Given the description of an element on the screen output the (x, y) to click on. 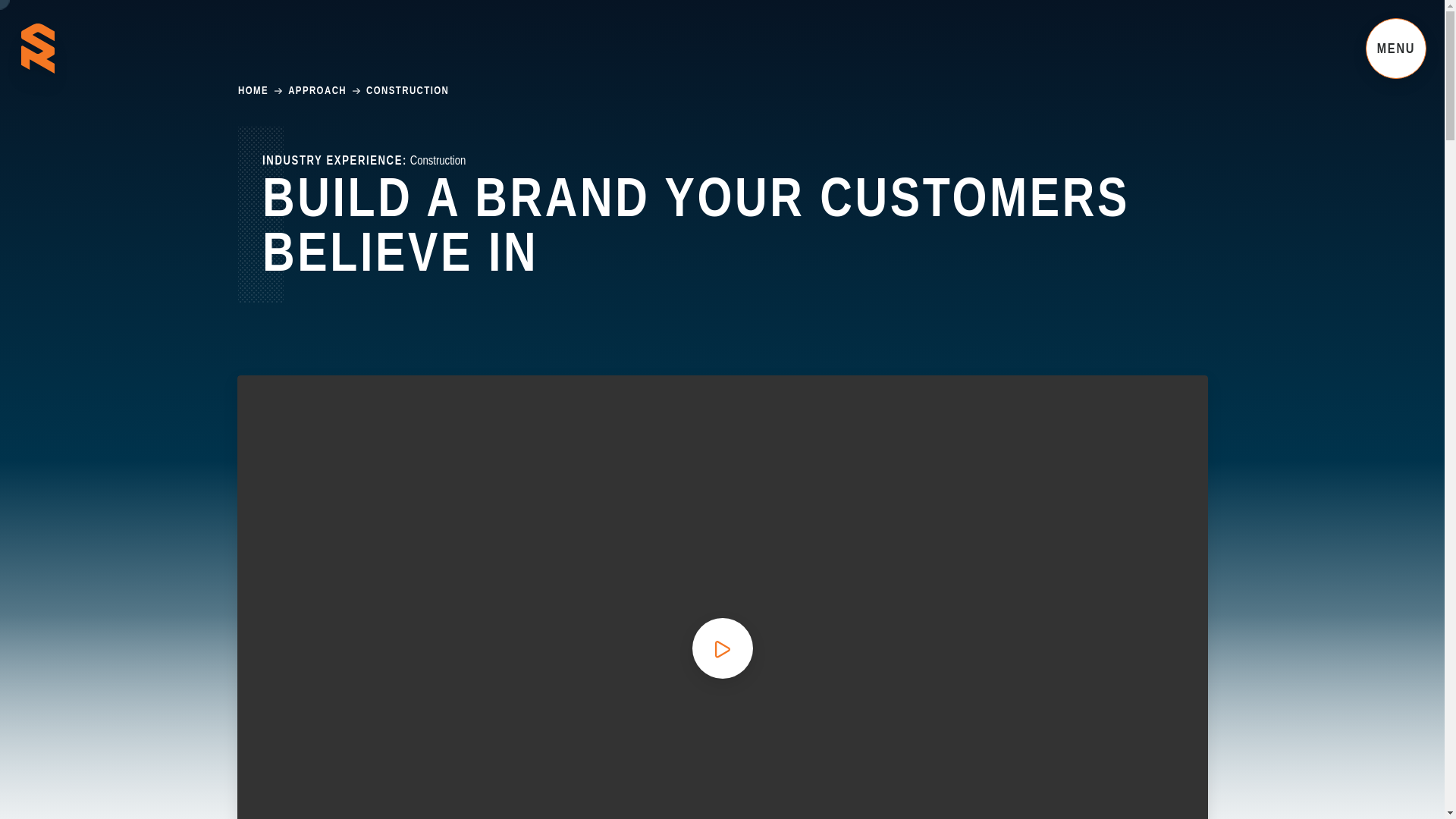
HOME (252, 91)
APPROACH (317, 91)
